Given the description of an element on the screen output the (x, y) to click on. 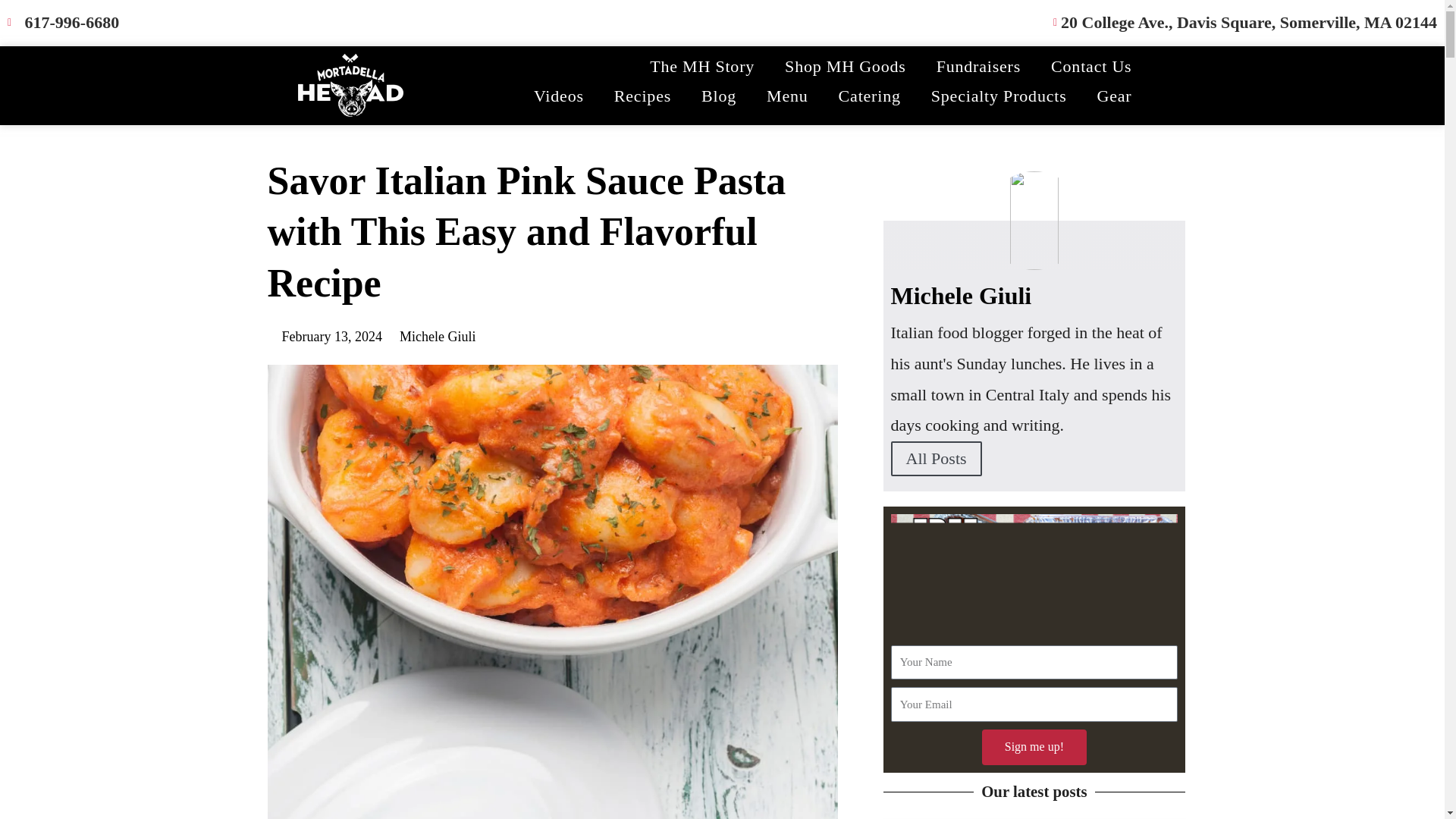
Recipes (641, 95)
Contact Us (1091, 66)
Fundraisers (978, 66)
Specialty Products (998, 95)
Menu (787, 95)
The MH Story (702, 66)
Gear (1114, 95)
Shop MH Goods (845, 66)
Catering (869, 95)
Videos (558, 95)
Blog (718, 95)
